Given the description of an element on the screen output the (x, y) to click on. 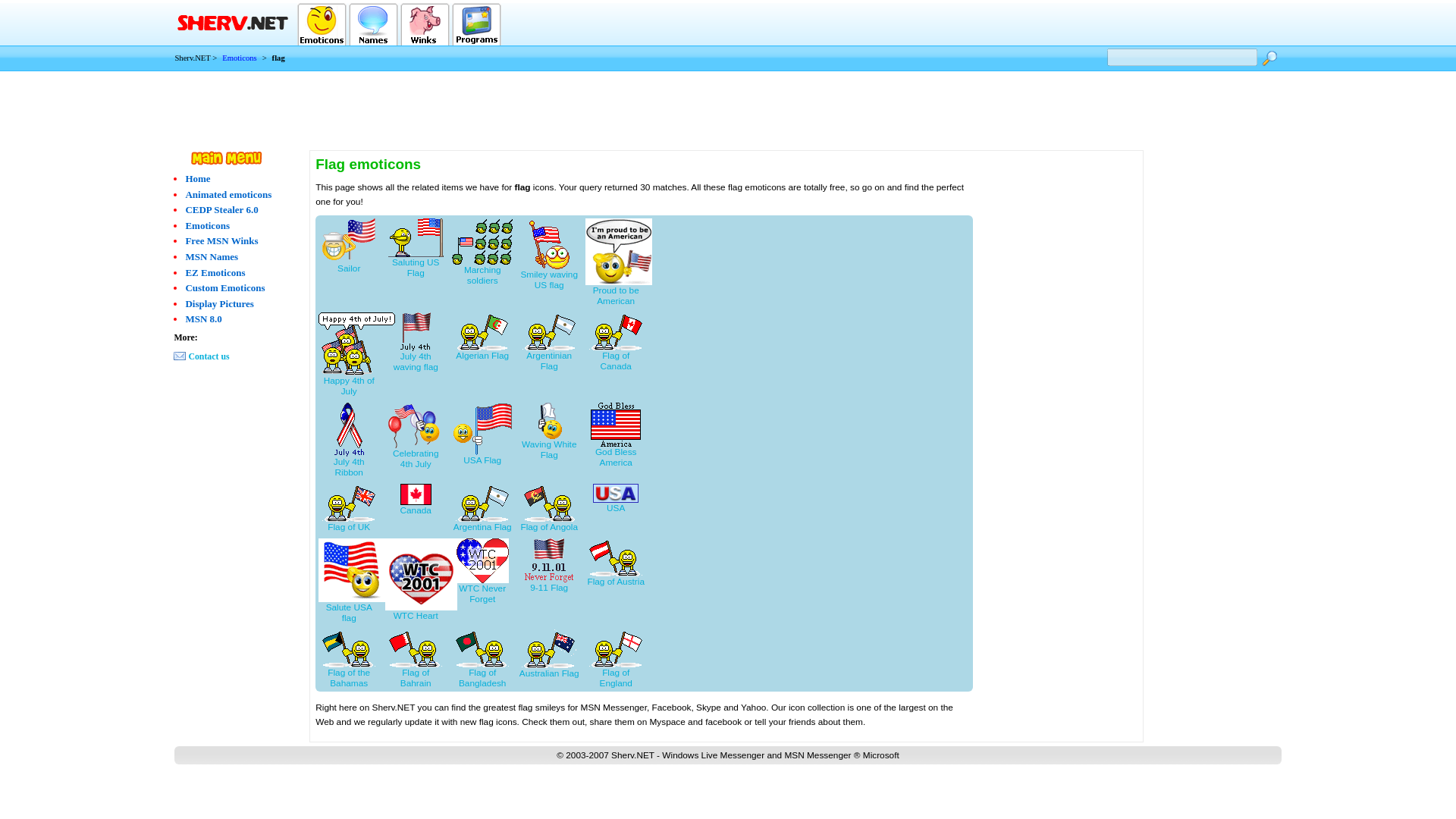
Canada (415, 499)
WTC Never Forget (481, 571)
July 4th waving flag (415, 342)
Flag of Canada (615, 341)
Waving White Flag (548, 431)
Flag of Austria (615, 562)
Find! (1269, 57)
Celebrating 4th July (415, 435)
Algerian Flag (481, 336)
Australian Flag (548, 653)
God Bless America (615, 434)
Argentinian Flag (548, 341)
Advertisement (727, 105)
USA Flag (481, 434)
CEDP Stealer 6.0 (220, 209)
